Given the description of an element on the screen output the (x, y) to click on. 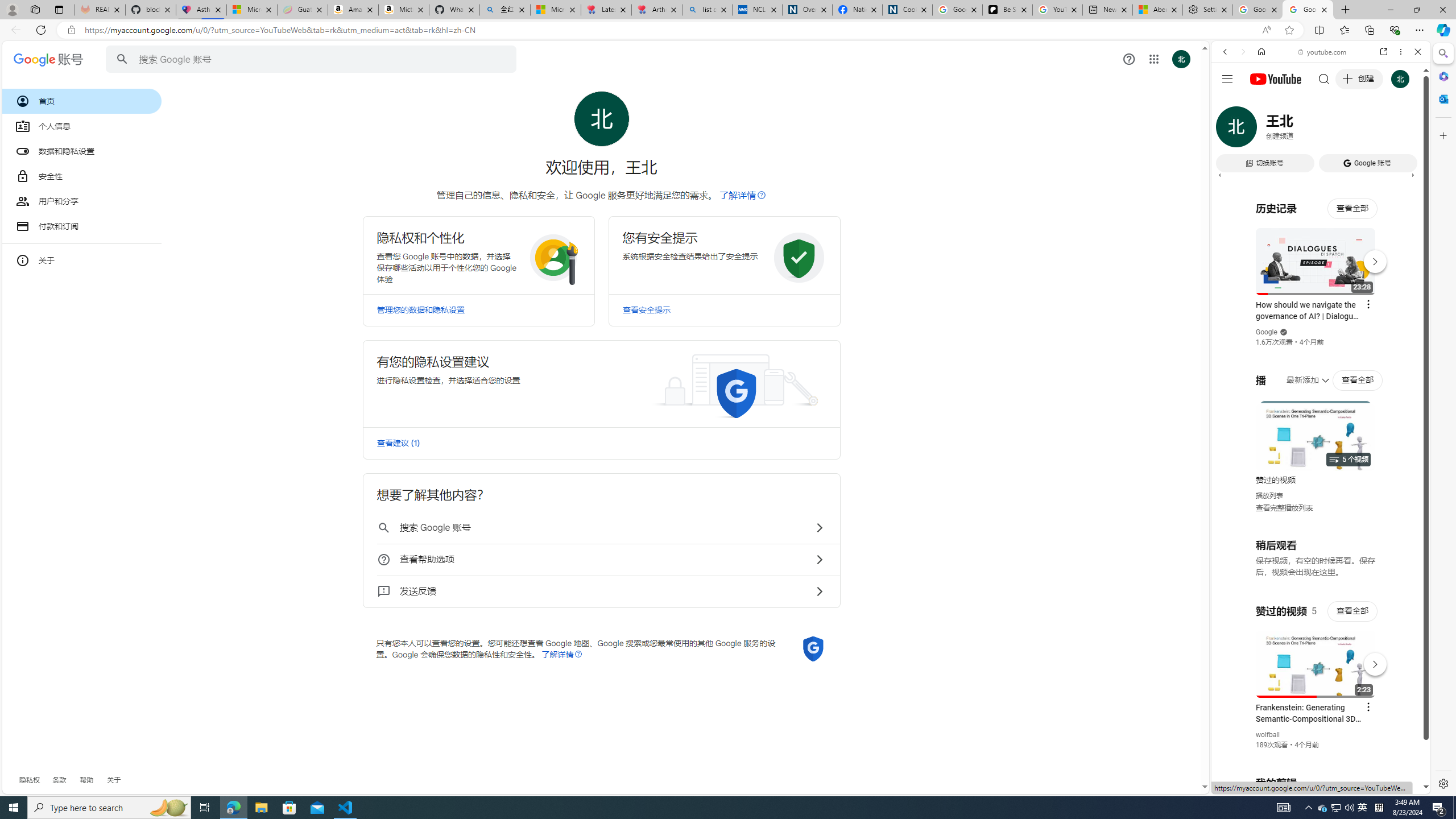
Show More Music (1390, 310)
Click to scroll right (1407, 456)
